Given the description of an element on the screen output the (x, y) to click on. 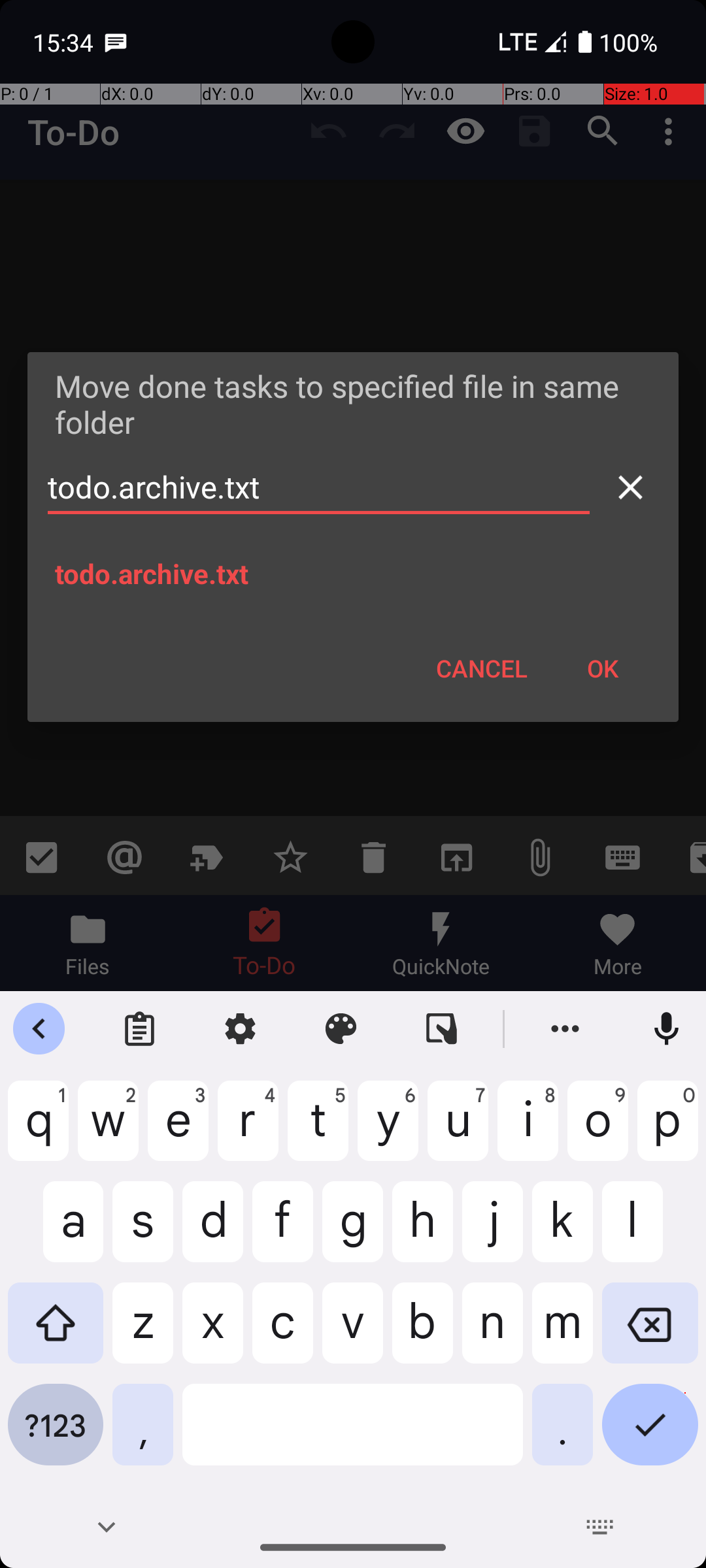
Move done tasks to specified file in same folder Element type: android.widget.TextView (352, 403)
todo.archive.txt Element type: android.widget.EditText (318, 486)
